Given the description of an element on the screen output the (x, y) to click on. 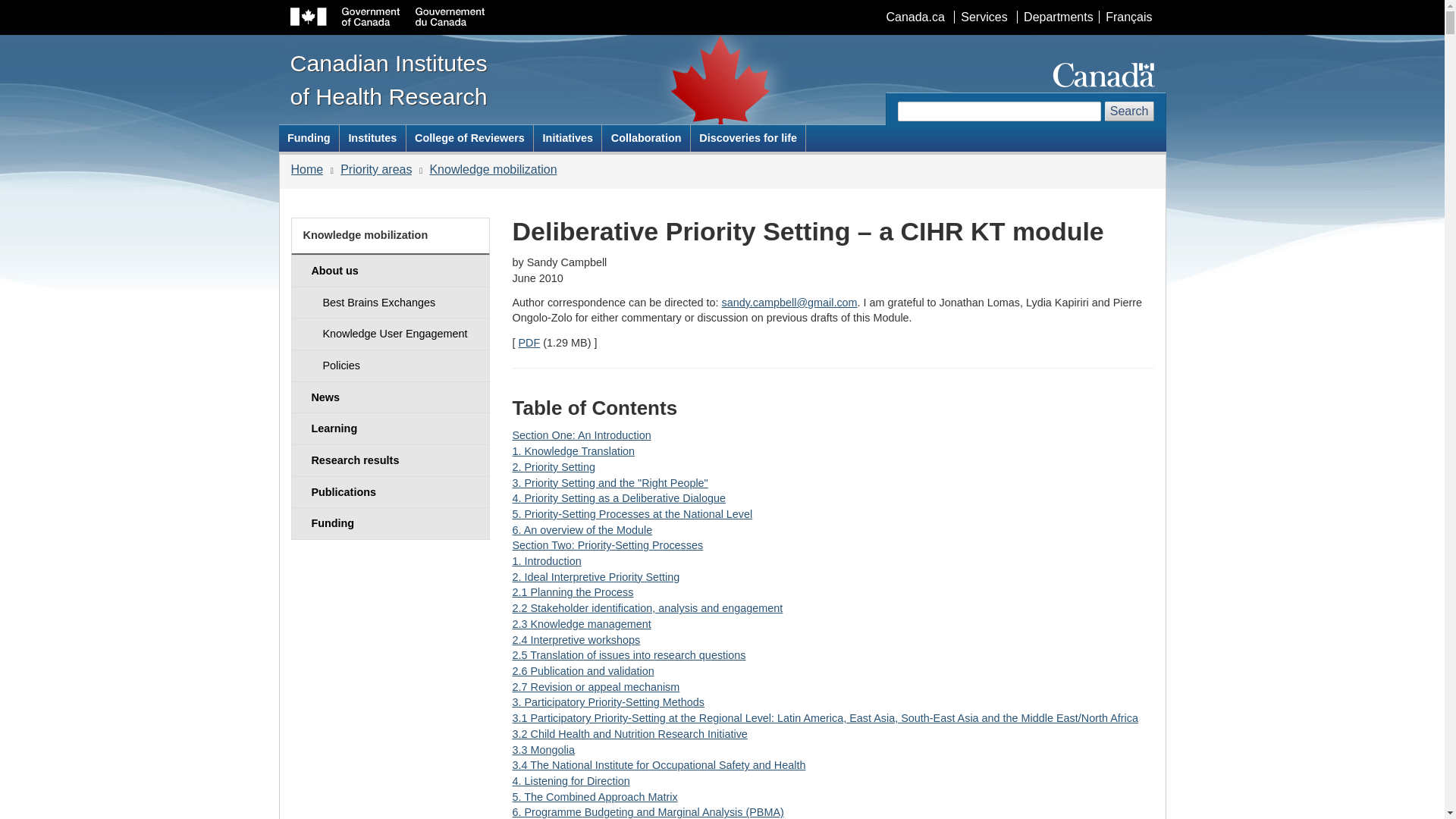
6. An overview of the Module (582, 530)
5. Priority-Setting Processes at the National Level (632, 513)
College of Reviewers (470, 138)
2. Priority Setting (553, 467)
2.2 Stakeholder identification, analysis and engagement (647, 607)
PDF (529, 342)
3. Participatory Priority-Setting Methods (608, 702)
Home (307, 169)
2.4 Interpretive workshops (576, 639)
Discoveries for life (748, 138)
4. Priority Setting as a Deliberative Dialogue (619, 498)
2. Ideal Interpretive Priority Setting (595, 576)
3. Priority Setting and the "Right People" (609, 482)
2.1 Planning the Process (572, 592)
3.2 Child Health and Nutrition Research Initiative (630, 734)
